Given the description of an element on the screen output the (x, y) to click on. 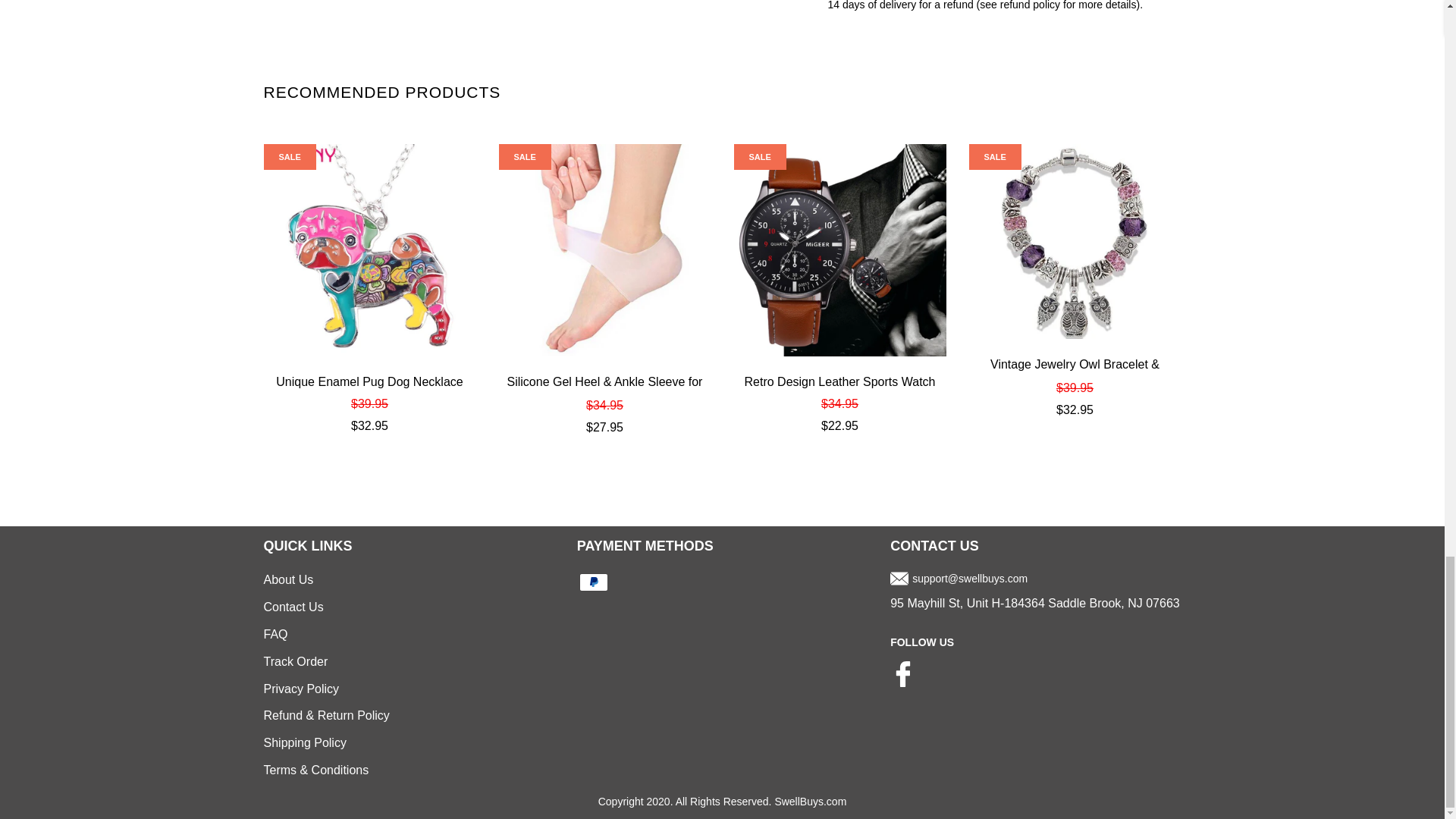
About Us (288, 579)
FAQ (275, 634)
Unique Enamel Pug Dog Necklace (369, 250)
Unique Enamel Pug Dog Necklace (369, 382)
Privacy Policy (301, 688)
Track Order (296, 661)
Contact Us (293, 606)
Retro Design Leather Sports Watch (839, 382)
